Given the description of an element on the screen output the (x, y) to click on. 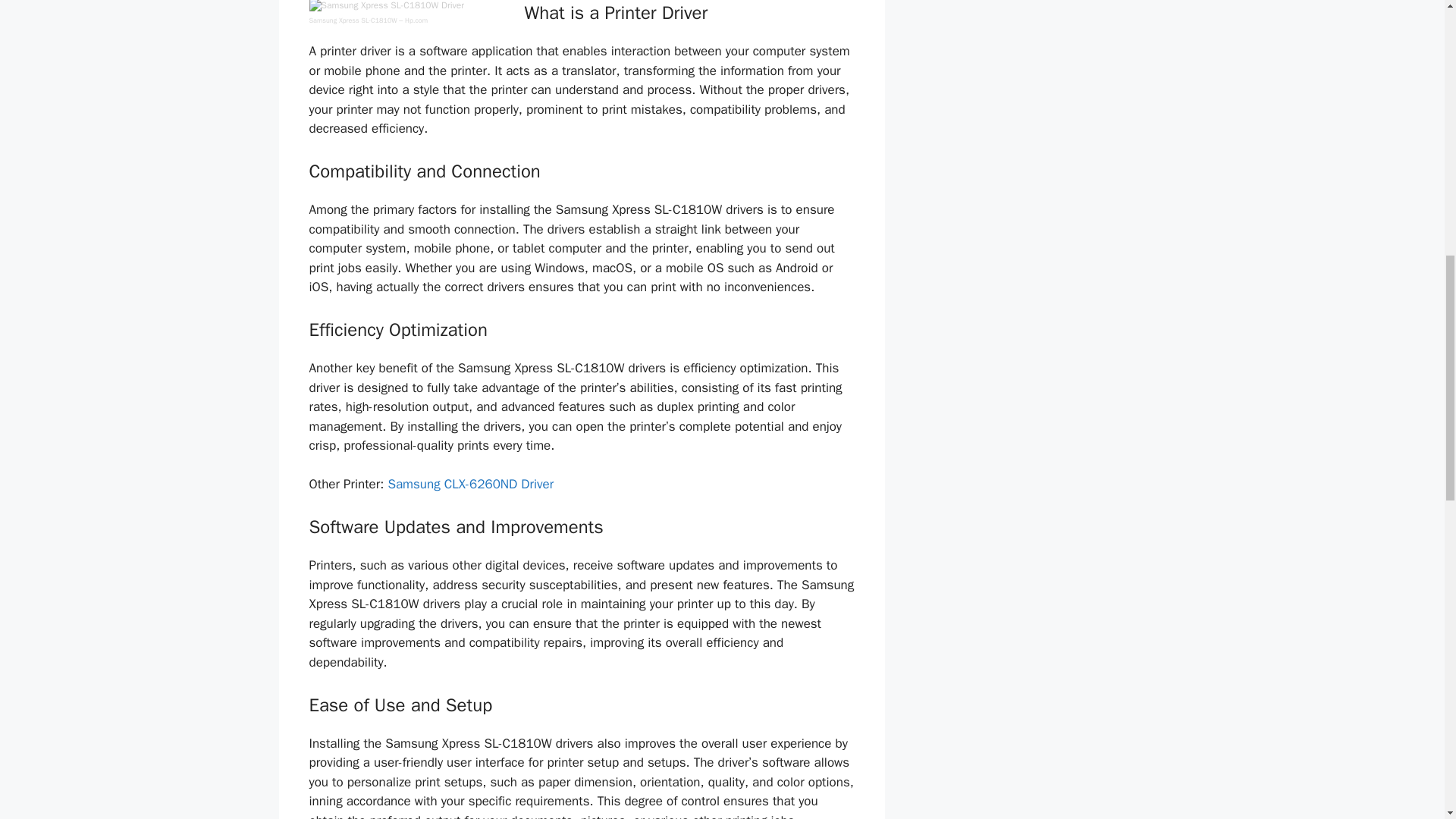
Samsung CLX-6260ND Driver (470, 483)
Samsung CLX-6260ND Driver (470, 483)
